Given the description of an element on the screen output the (x, y) to click on. 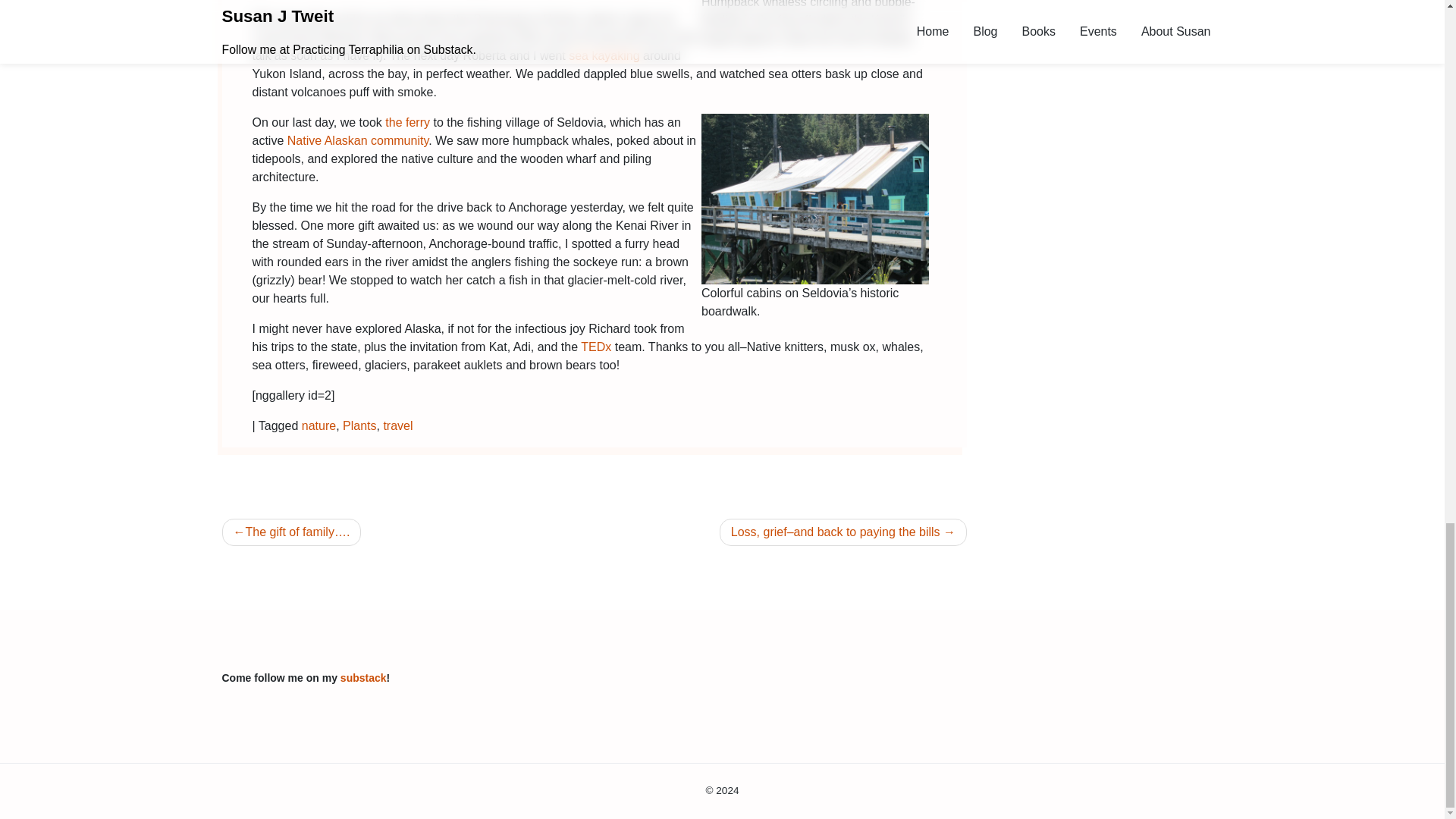
sea kayaking (604, 55)
nature (318, 425)
TEDx (595, 346)
Plants (358, 425)
aquacabins (814, 198)
Native Alaskan community (357, 140)
travel (397, 425)
the ferry (405, 122)
